Given the description of an element on the screen output the (x, y) to click on. 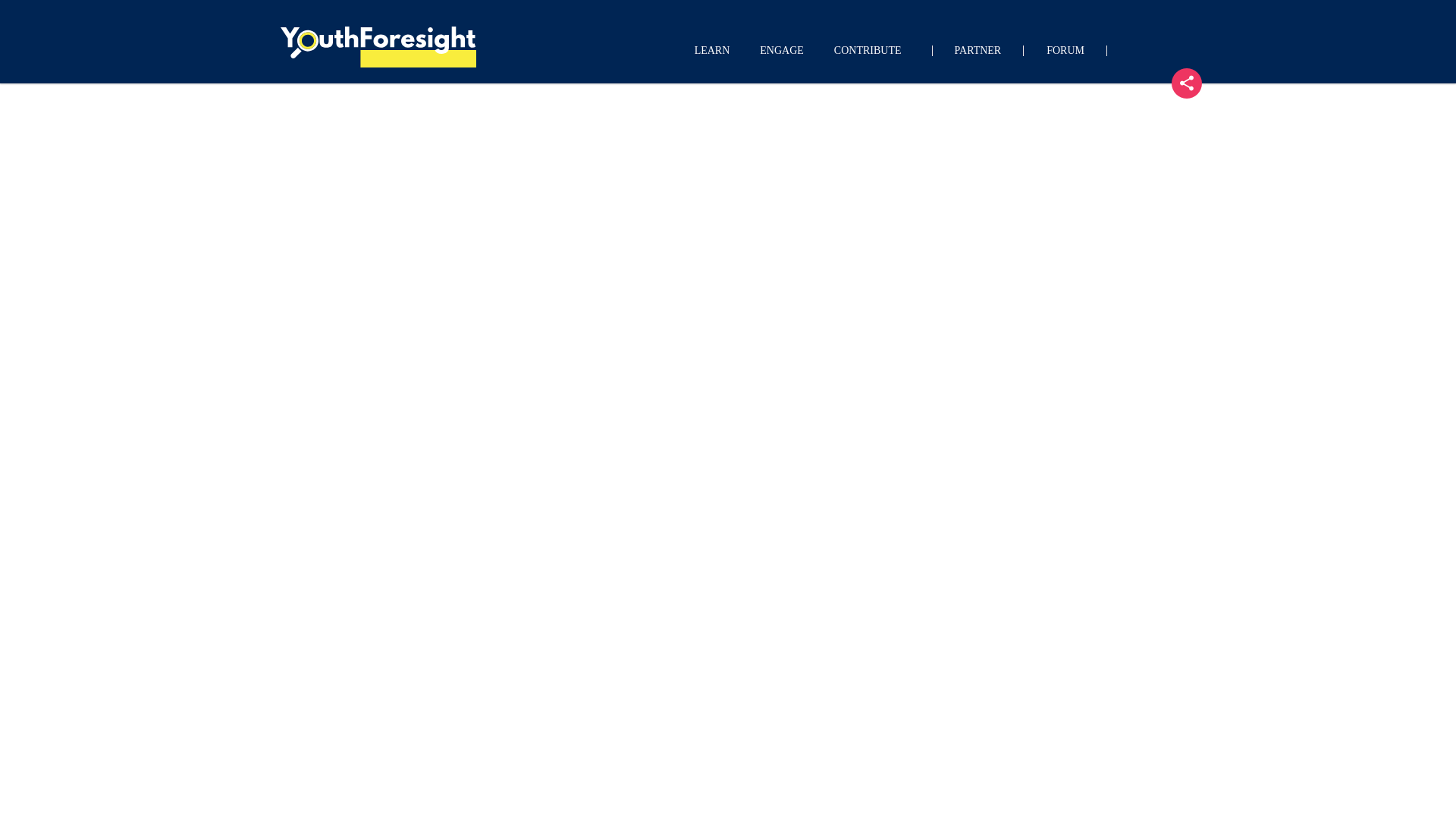
FORUM (1065, 50)
CONTRIBUTE (867, 50)
ENGAGE (781, 50)
PARTNER (978, 50)
